Given the description of an element on the screen output the (x, y) to click on. 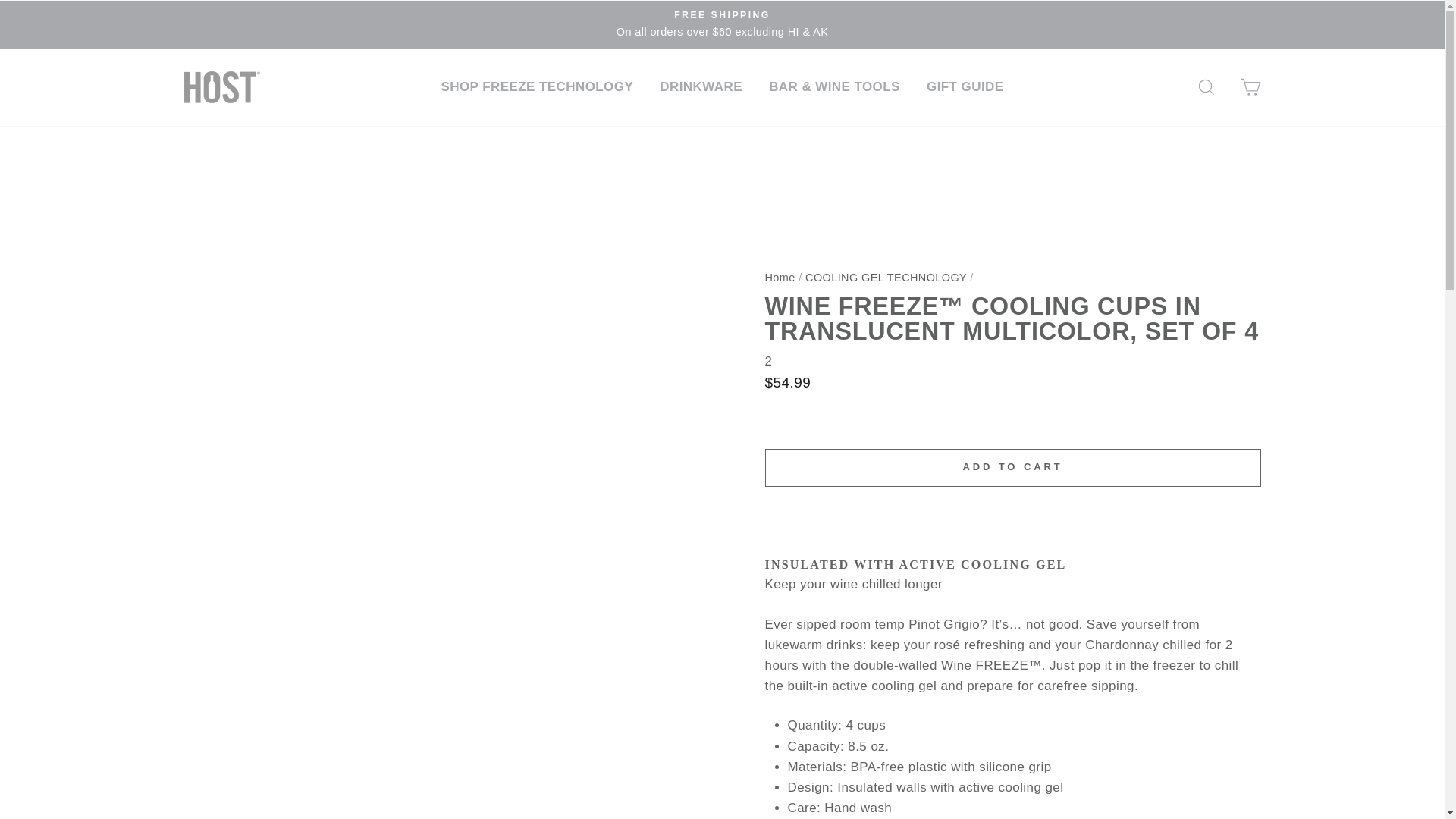
SHOP FREEZE TECHNOLOGY (537, 87)
Back to the frontpage (779, 277)
DRINKWARE (700, 87)
